Given the description of an element on the screen output the (x, y) to click on. 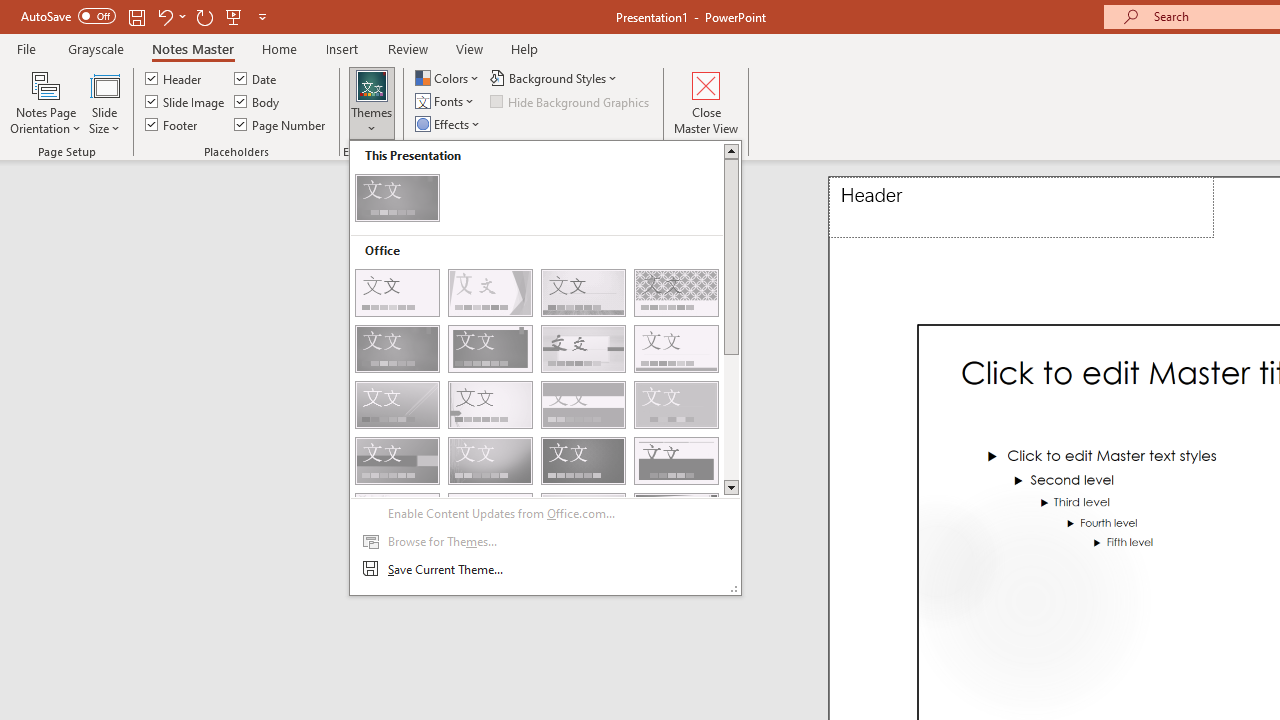
Date (256, 78)
Grayscale (96, 48)
Hide Background Graphics (570, 101)
Header (1021, 207)
Themes (372, 102)
Slide Image (186, 101)
Colors (449, 78)
Slide Size (104, 102)
Page Number (280, 124)
Body (257, 101)
